Given the description of an element on the screen output the (x, y) to click on. 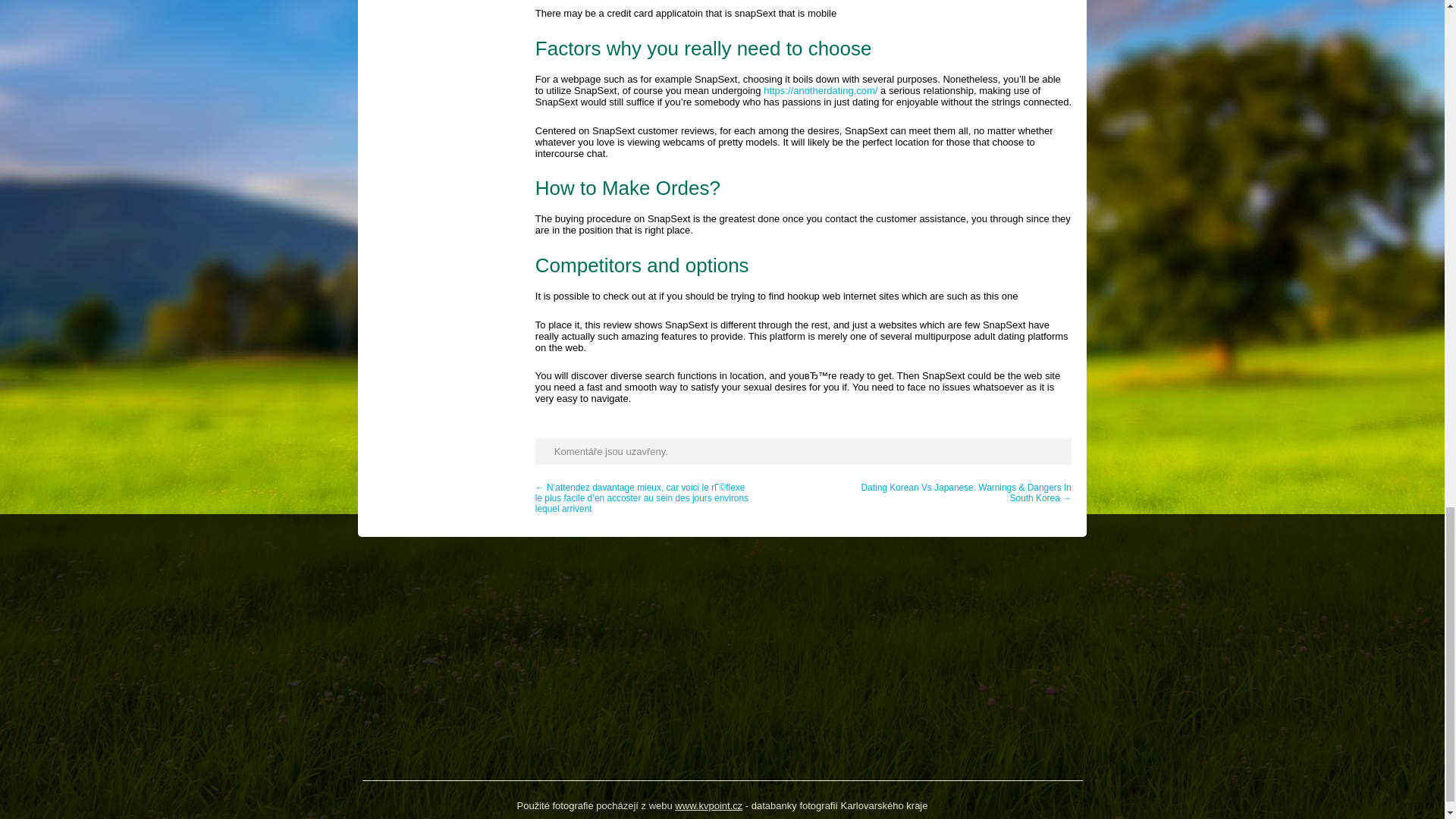
www.kvpoint.cz (708, 805)
KVPoint.cz (708, 805)
